Given the description of an element on the screen output the (x, y) to click on. 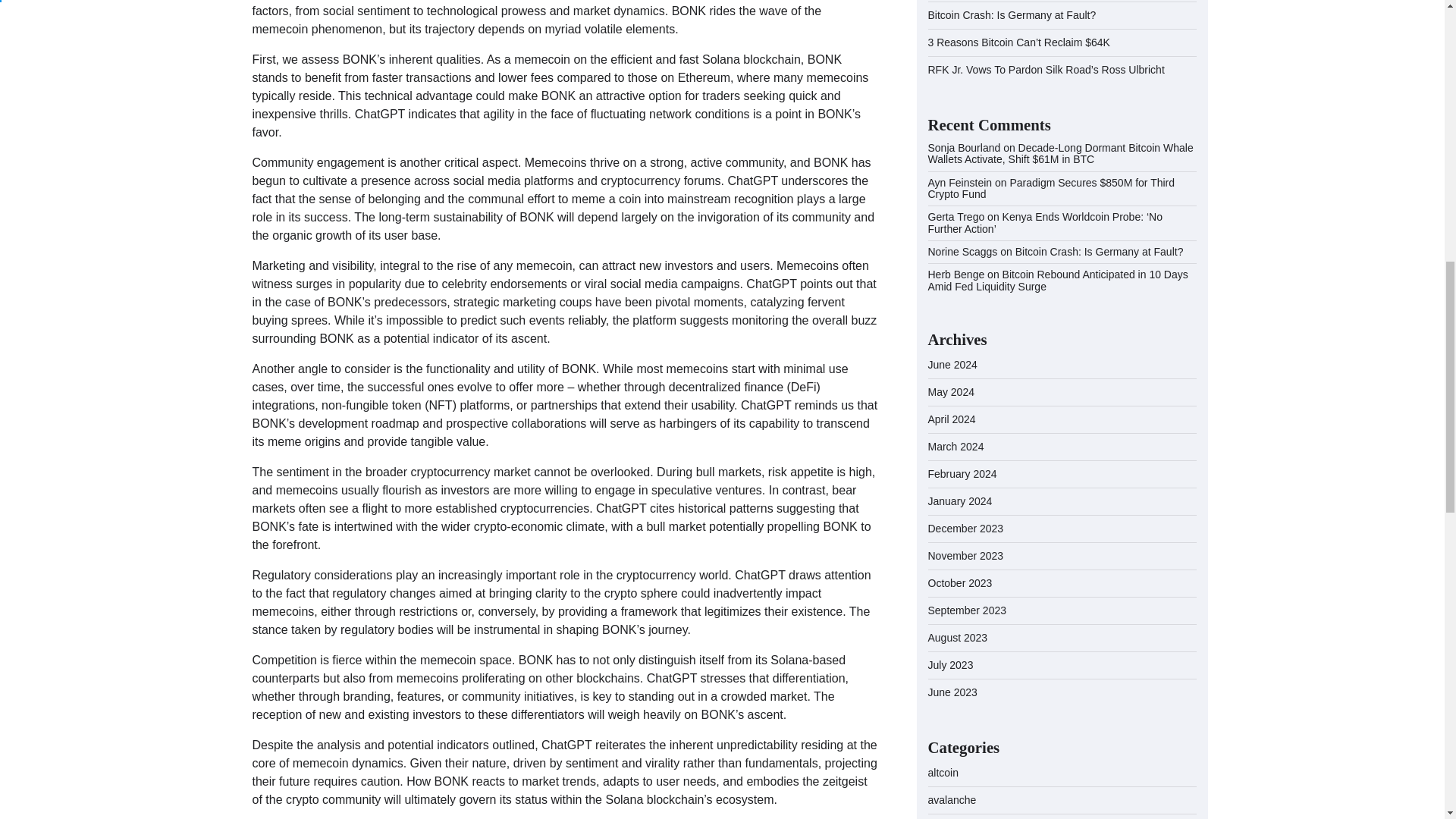
June 2024 (952, 364)
February 2024 (962, 473)
Bitcoin Crash: Is Germany at Fault? (1012, 15)
Bitcoin Crash: Is Germany at Fault? (1098, 251)
March 2024 (956, 446)
May 2024 (951, 391)
Sonja Bourland (964, 147)
Ayn Feinstein (960, 182)
Norine Scaggs (962, 251)
